Given the description of an element on the screen output the (x, y) to click on. 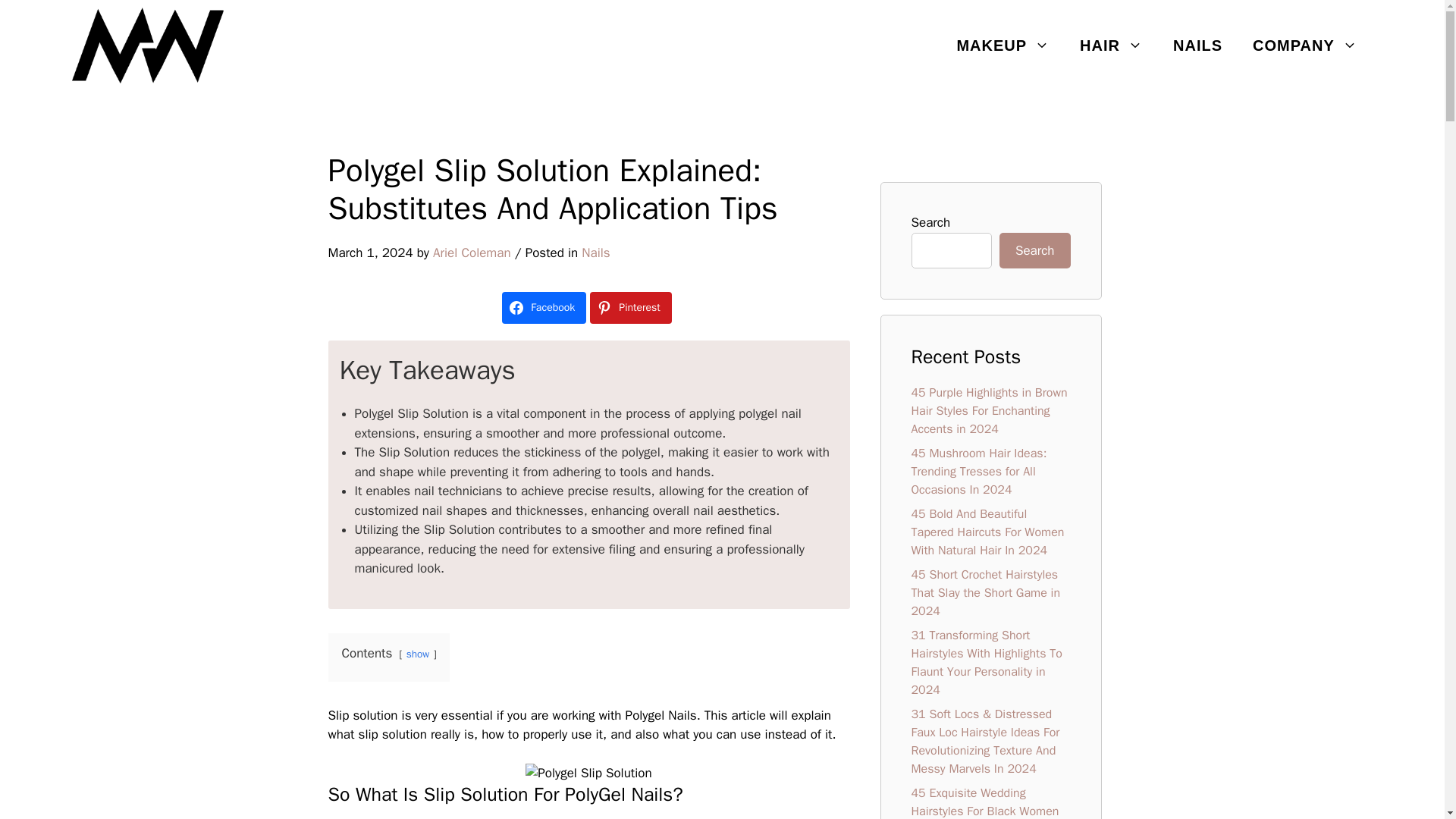
Pinterest (630, 307)
MAKEUP (1002, 44)
Share on Pinterest (630, 307)
HAIR (1110, 44)
NAILS (1197, 44)
View all posts by Ariel Coleman (471, 252)
Share on Facebook (544, 307)
Nails (595, 252)
show (417, 653)
COMPANY (1305, 44)
